Given the description of an element on the screen output the (x, y) to click on. 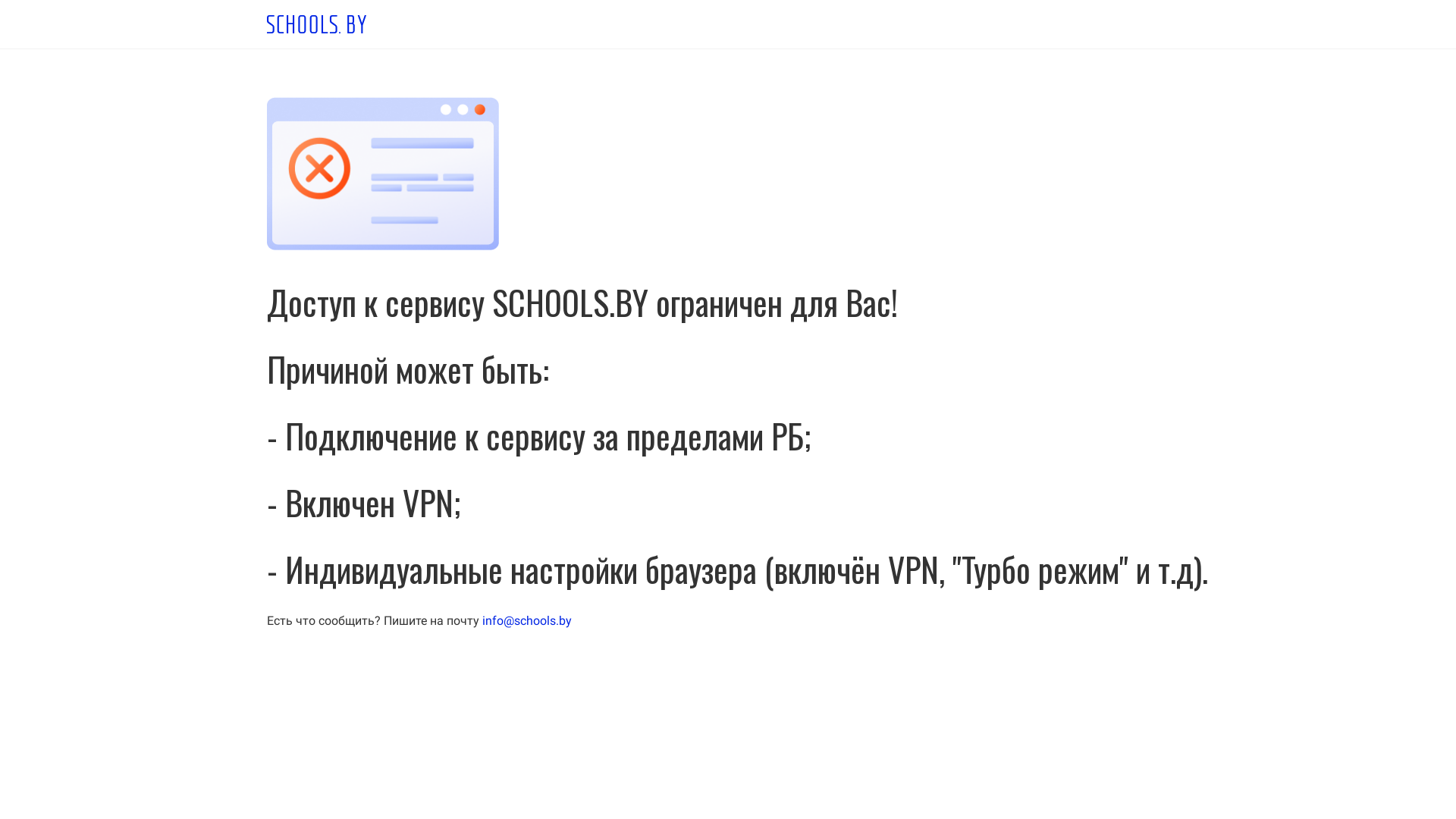
info@schools.by Element type: text (526, 620)
